Given the description of an element on the screen output the (x, y) to click on. 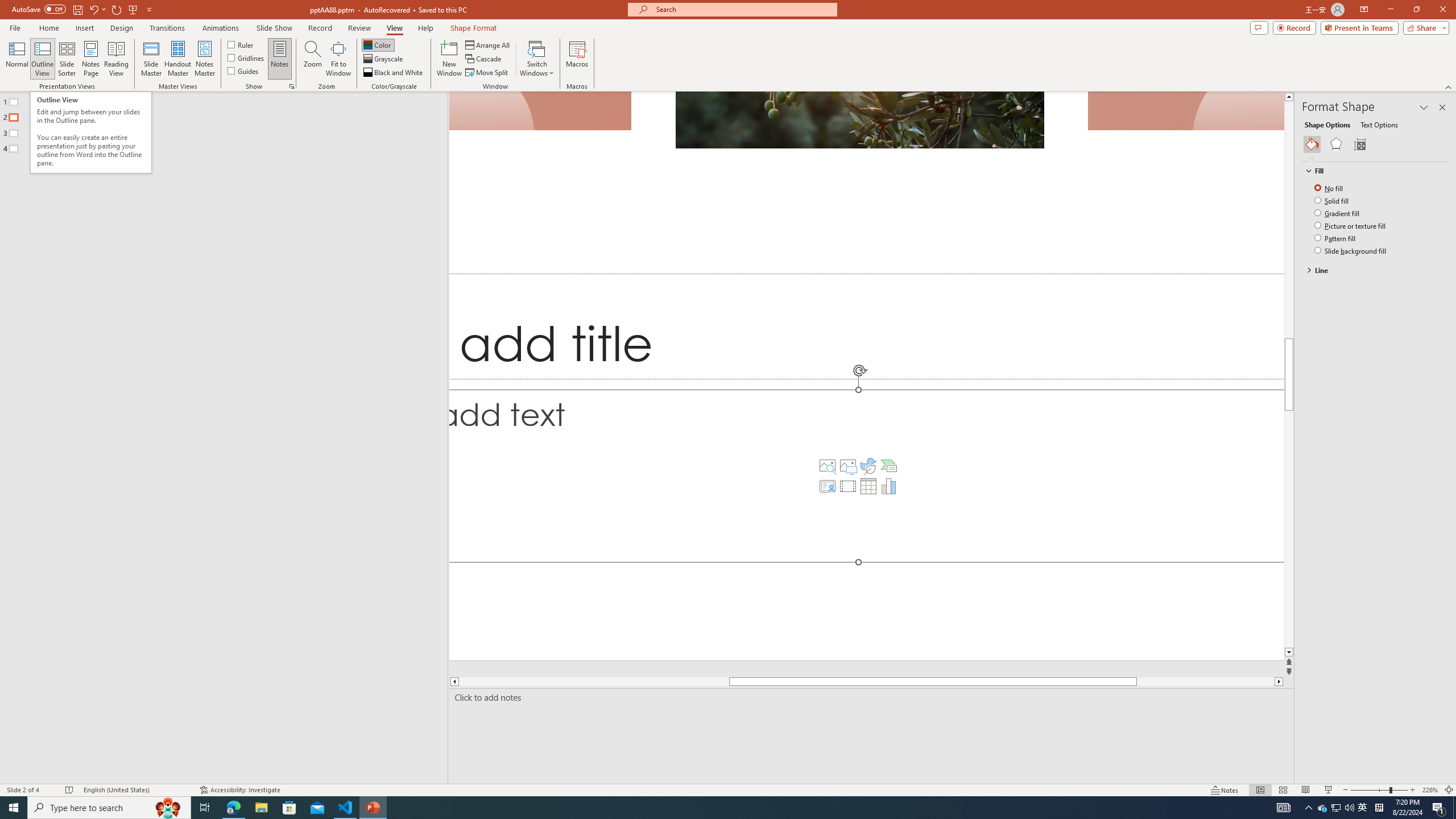
No fill (1329, 187)
Arrange All (488, 44)
Gridlines (246, 56)
Outline View (42, 58)
Pattern fill (1335, 237)
Move Split (487, 72)
Guides (243, 69)
